Given the description of an element on the screen output the (x, y) to click on. 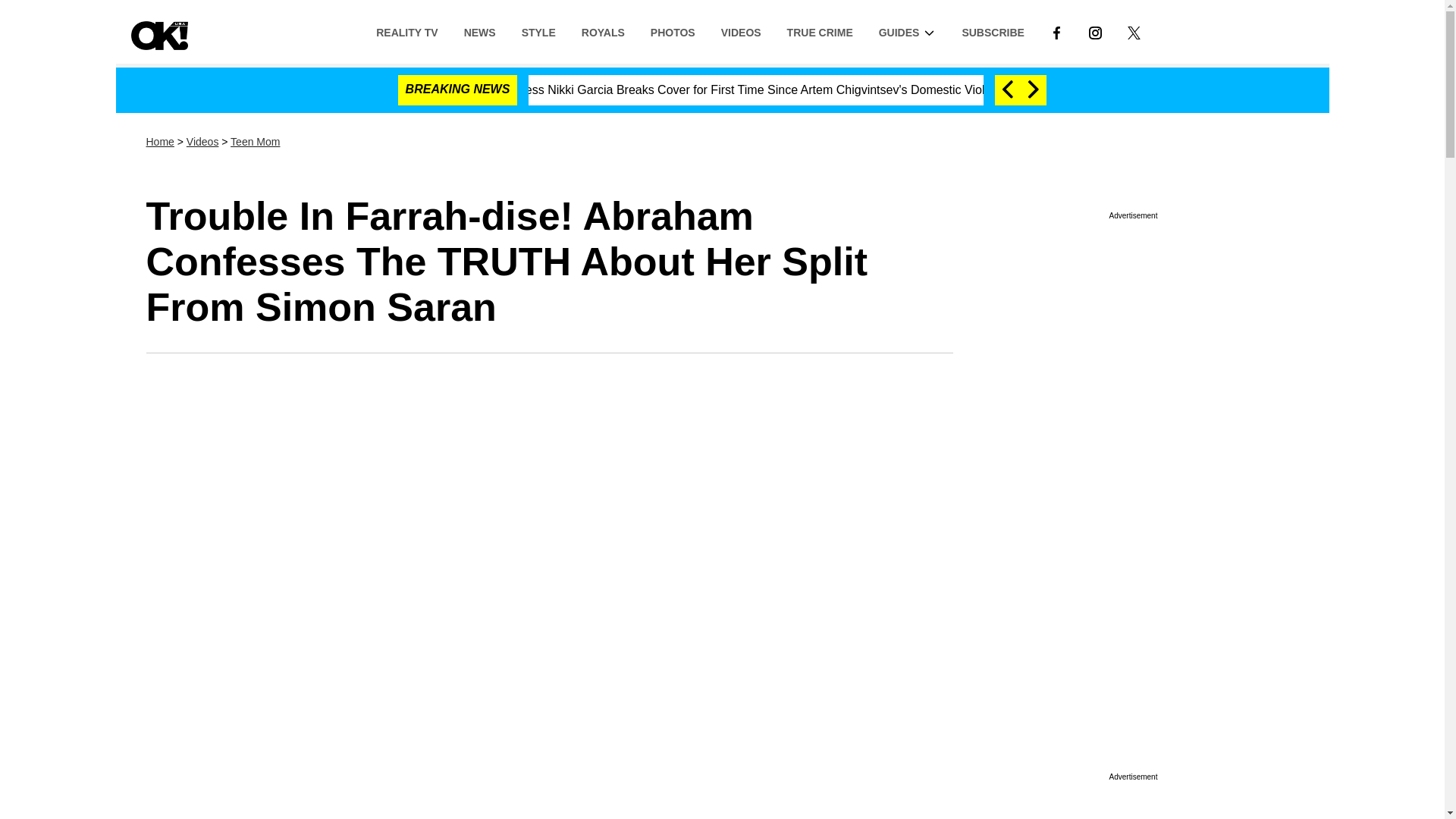
LINK TO INSTAGRAM (1095, 31)
VIDEOS (740, 31)
TRUE CRIME (820, 31)
SUBSCRIBE (992, 31)
Link to X (1134, 31)
Home (159, 141)
PHOTOS (672, 31)
LINK TO FACEBOOK (1055, 32)
Link to Facebook (1055, 31)
LINK TO INSTAGRAM (1095, 32)
